Given the description of an element on the screen output the (x, y) to click on. 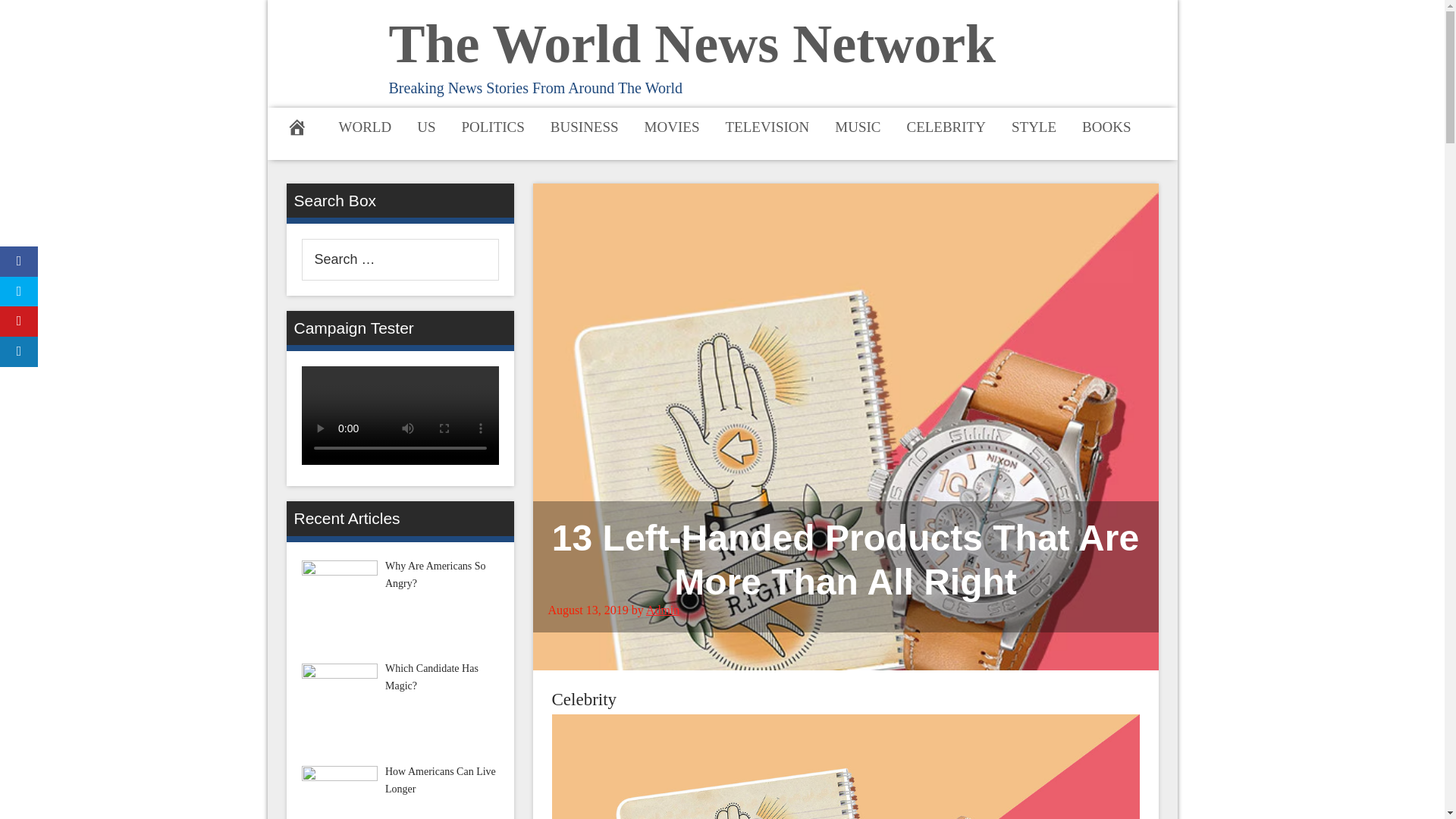
POLITICS (492, 126)
Celebrity (584, 699)
US (426, 126)
CELEBRITY (945, 126)
BOOKS (1105, 126)
TELEVISION (766, 126)
MOVIES (672, 126)
WORLD (365, 126)
